Given the description of an element on the screen output the (x, y) to click on. 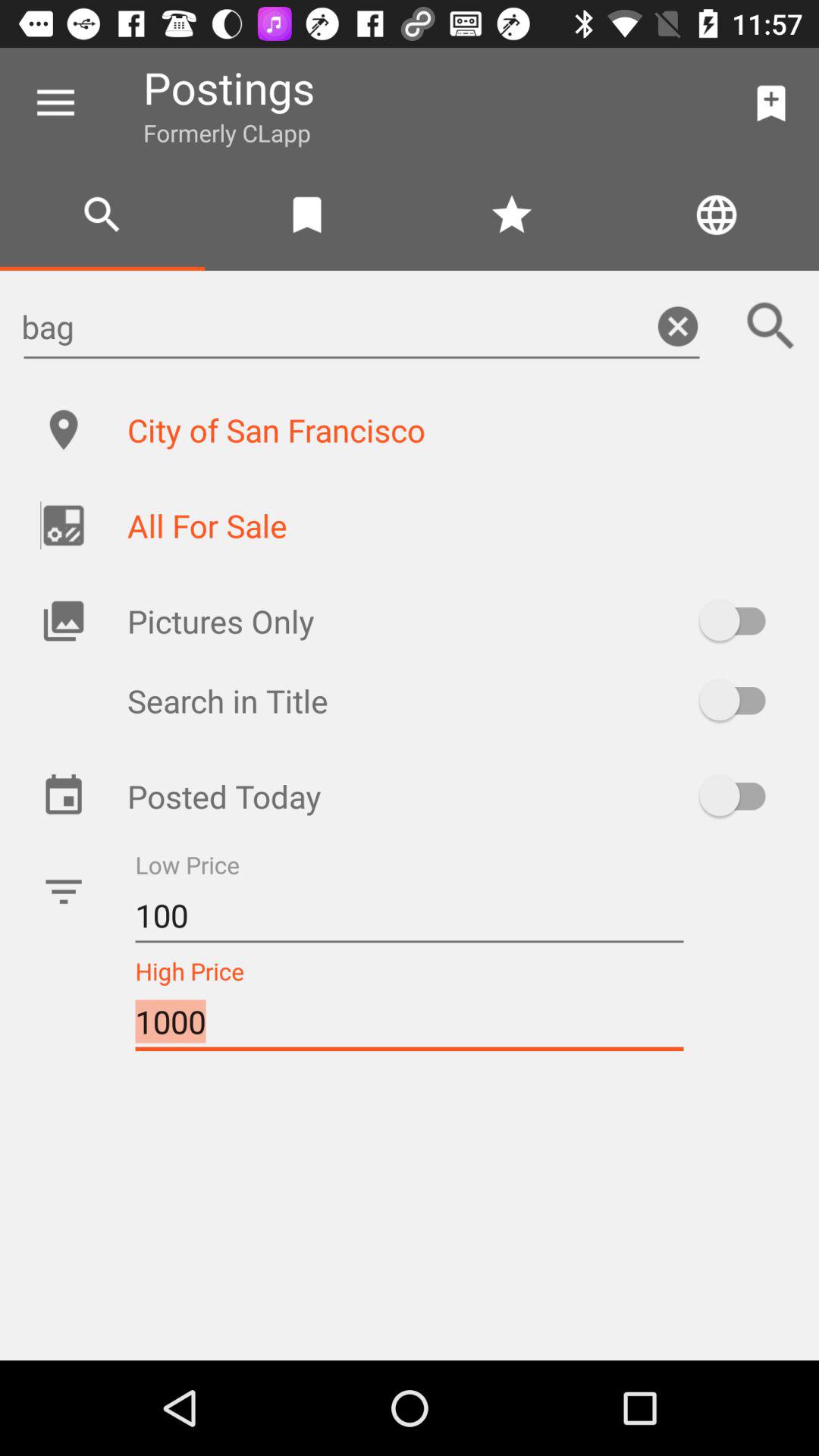
press item below the 100 item (409, 1021)
